Given the description of an element on the screen output the (x, y) to click on. 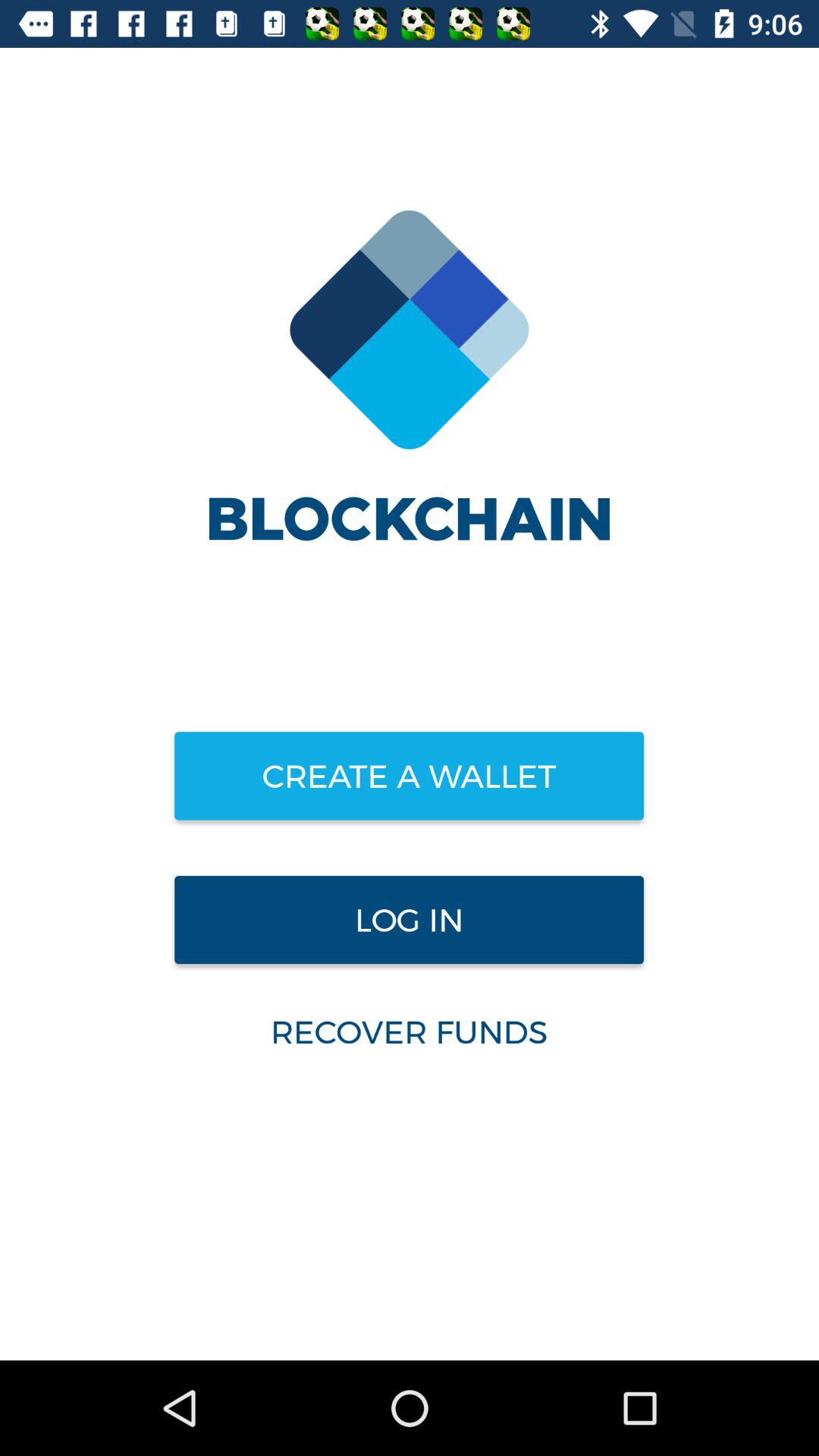
press create a wallet item (408, 776)
